Given the description of an element on the screen output the (x, y) to click on. 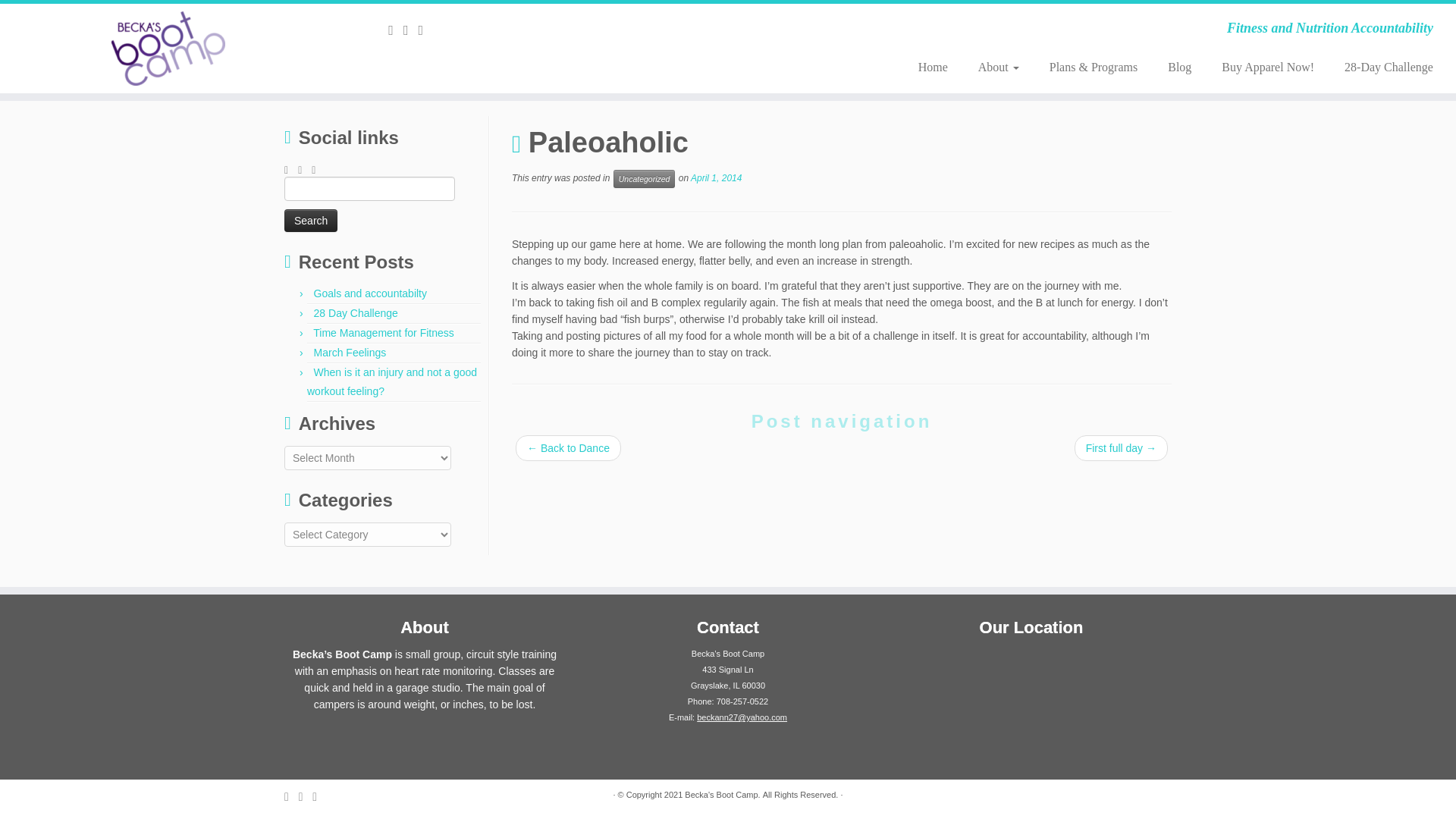
April 1, 2014 (715, 177)
Search (310, 220)
Time Management for Fitness (382, 332)
Goals and accountabilty (370, 293)
Buy Apparel Now! (1268, 67)
March Feelings (350, 352)
Uncategorized (643, 178)
E-mail (395, 29)
Follow me on Facebook (411, 29)
Follow me on Instagram (426, 29)
View all posts in Uncategorized (643, 178)
28 Day Challenge (355, 313)
28-Day Challenge (1380, 67)
About (997, 67)
When is it an injury and not a good workout feeling? (392, 381)
